Given the description of an element on the screen output the (x, y) to click on. 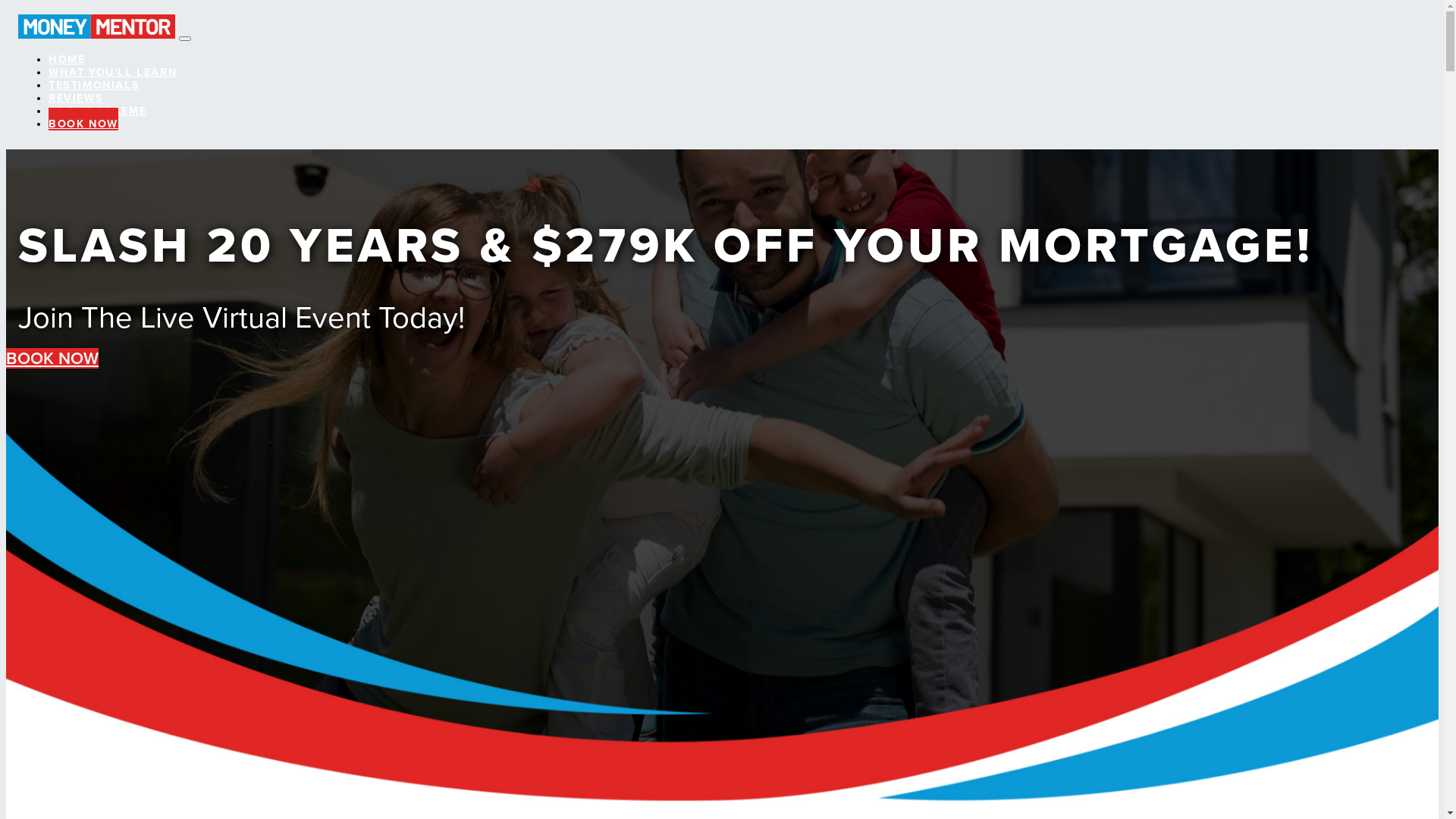
BOOK NOW Element type: text (83, 118)
ABOUT GRAEME Element type: text (97, 105)
TESTIMONIALS Element type: text (93, 80)
BOOK NOW Element type: text (52, 358)
REVIEWS Element type: text (75, 92)
WHAT YOU'LL LEARN Element type: text (112, 67)
HOME Element type: text (66, 54)
